Given the description of an element on the screen output the (x, y) to click on. 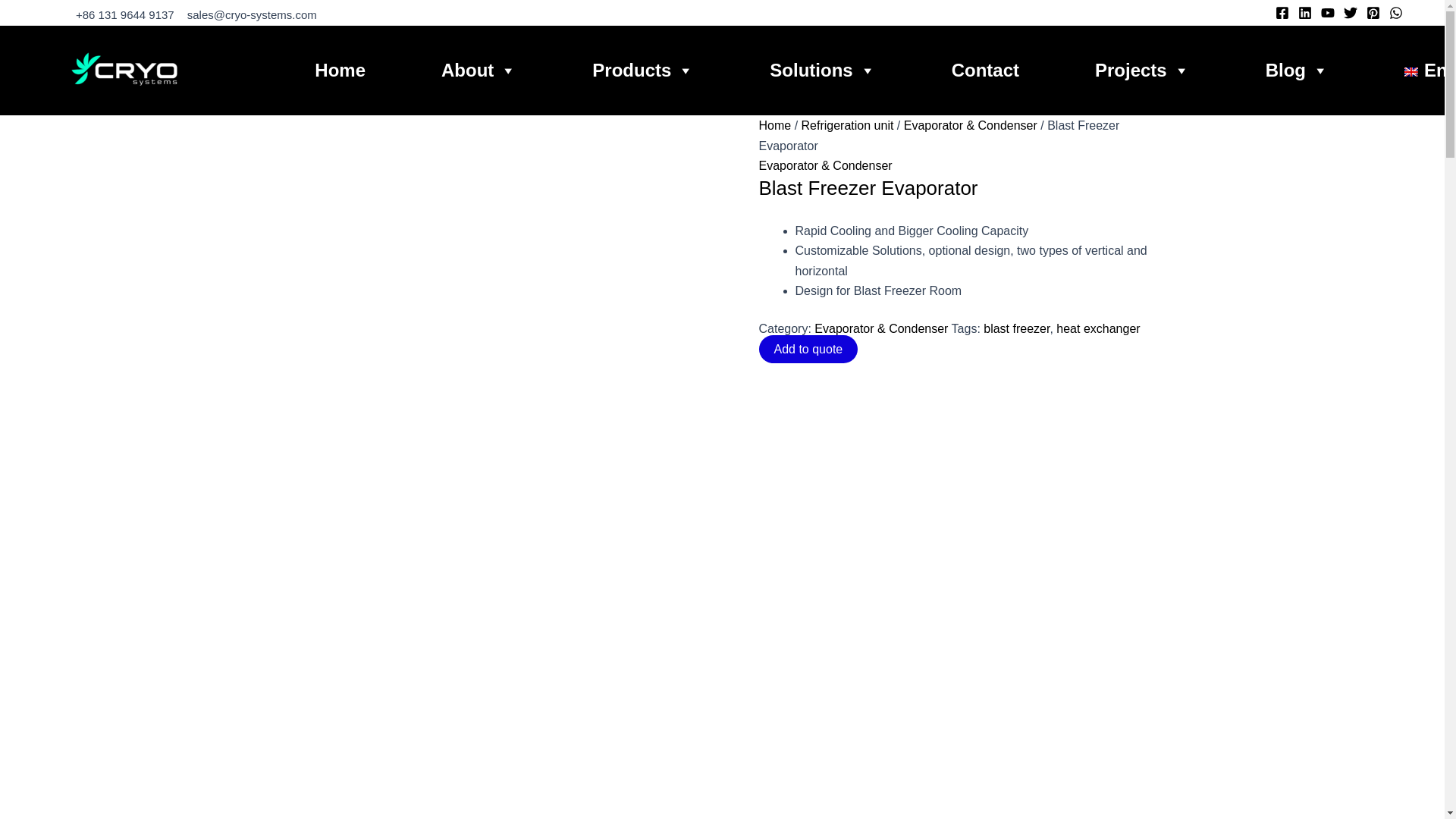
Products (643, 70)
About (478, 70)
Solutions (822, 70)
Home (339, 70)
English (1430, 70)
